Given the description of an element on the screen output the (x, y) to click on. 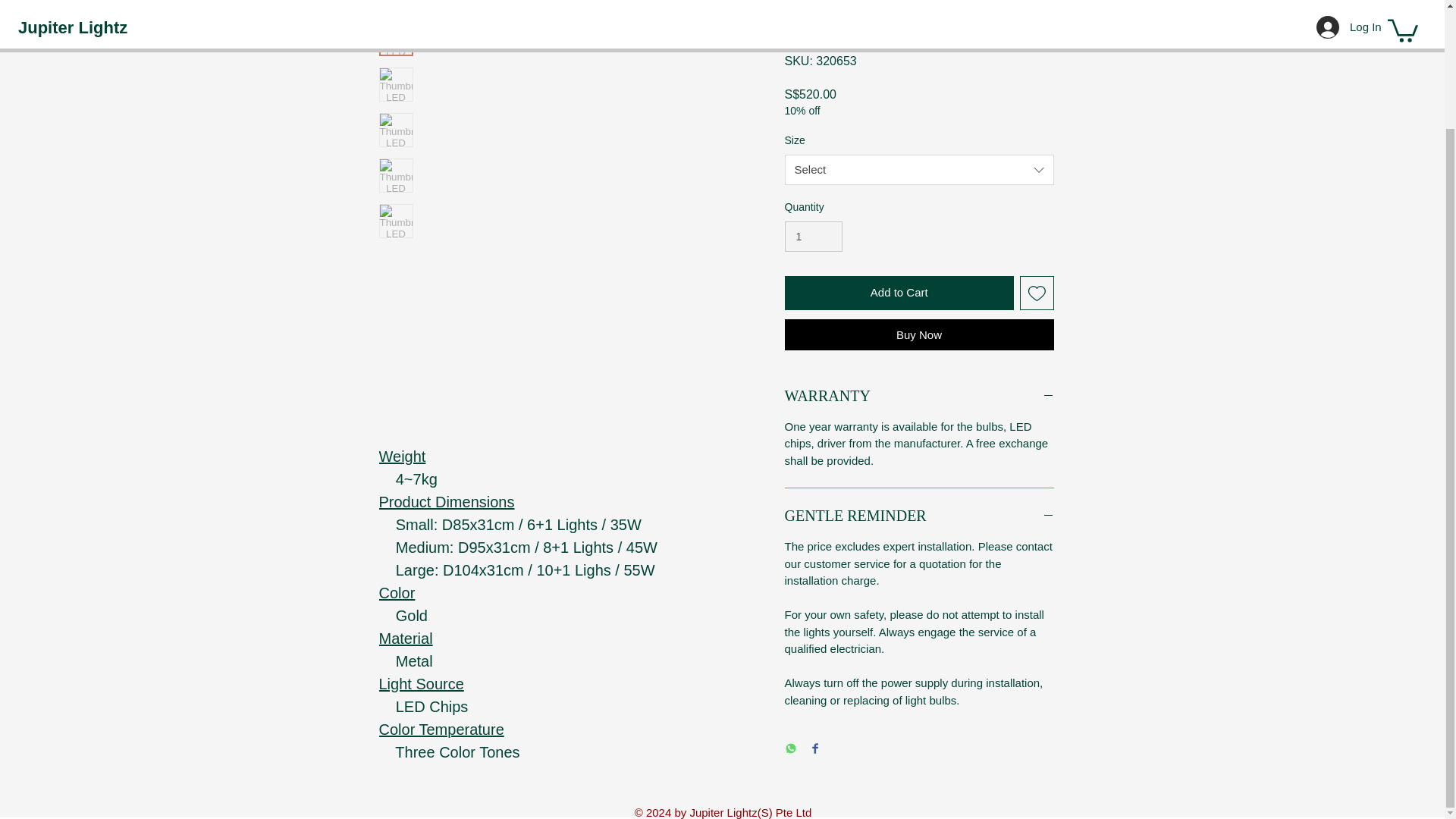
GENTLE REMINDER (918, 515)
1 (812, 236)
WARRANTY (918, 395)
Buy Now (918, 334)
Add to Cart (898, 293)
Select (918, 169)
